Given the description of an element on the screen output the (x, y) to click on. 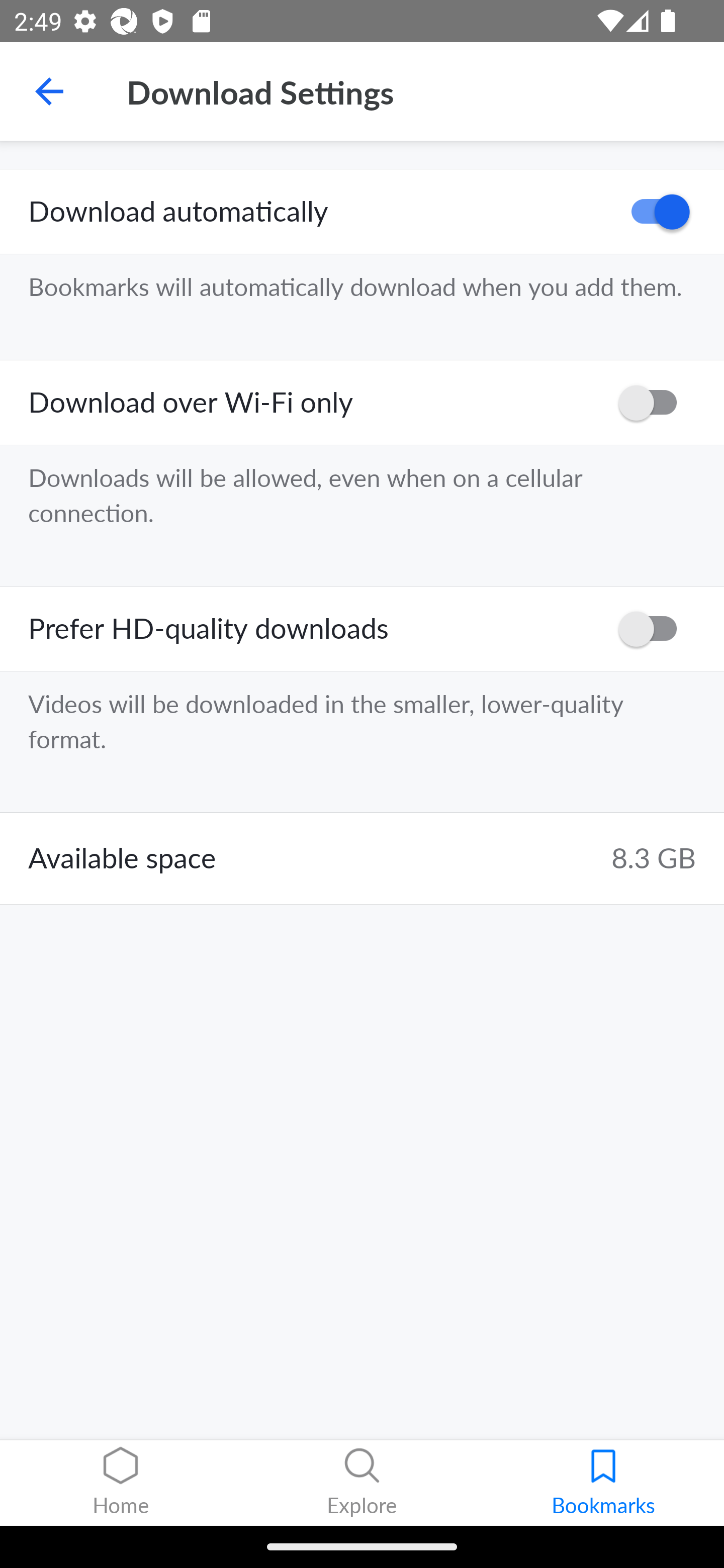
Navigate up (49, 91)
ON (653, 211)
OFF (653, 402)
OFF (653, 628)
Home (120, 1482)
Explore (361, 1482)
Bookmarks (603, 1482)
